Given the description of an element on the screen output the (x, y) to click on. 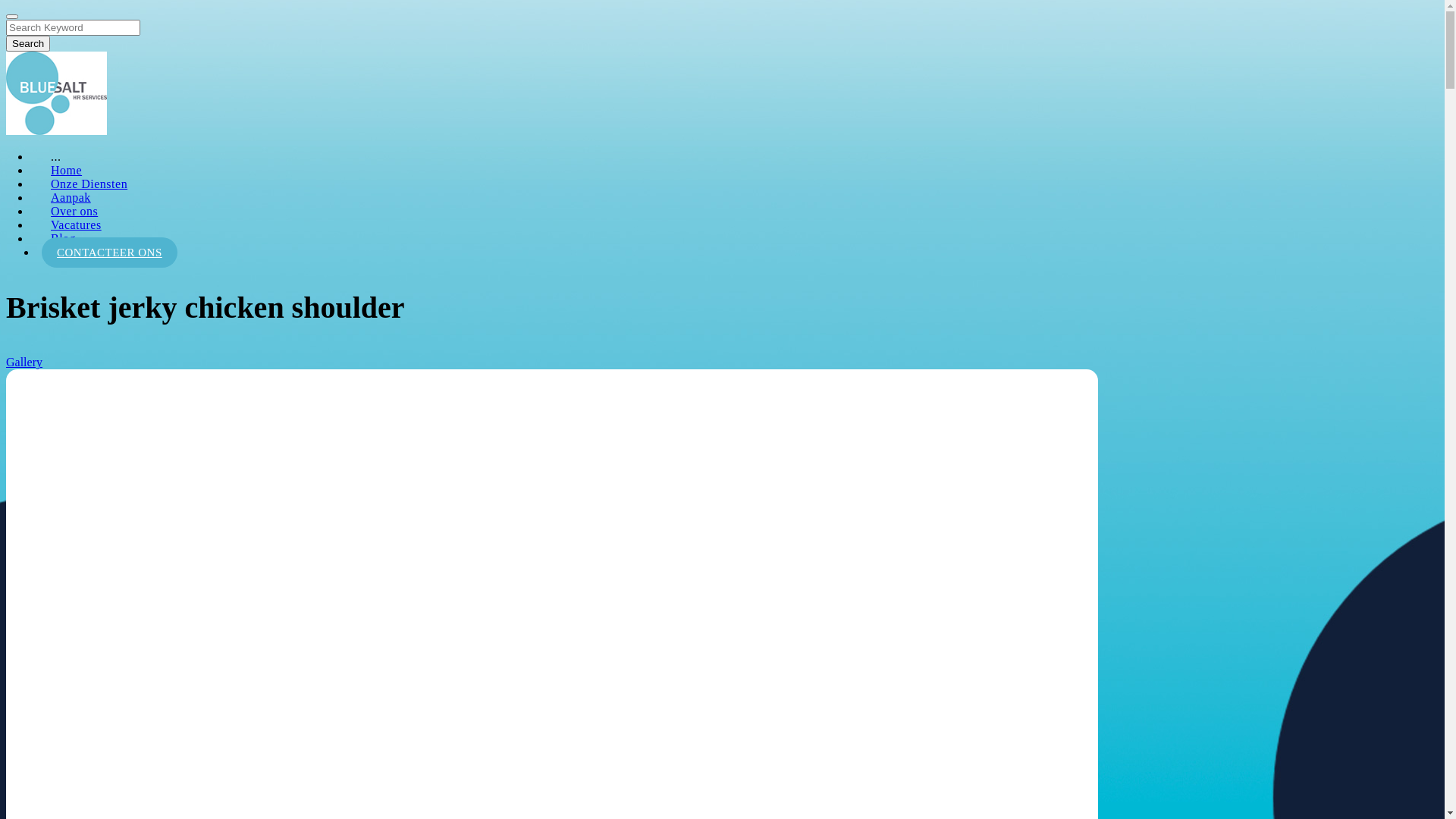
... Element type: text (55, 156)
Blog Element type: text (63, 238)
Search for: Element type: hover (73, 27)
Vacatures Element type: text (75, 224)
CONTACTEER ONS Element type: text (109, 252)
Onze Diensten Element type: text (88, 183)
Over ons Element type: text (73, 210)
Home Element type: text (66, 169)
Gallery Element type: text (24, 361)
Aanpak Element type: text (70, 197)
Search Element type: text (28, 43)
